Given the description of an element on the screen output the (x, y) to click on. 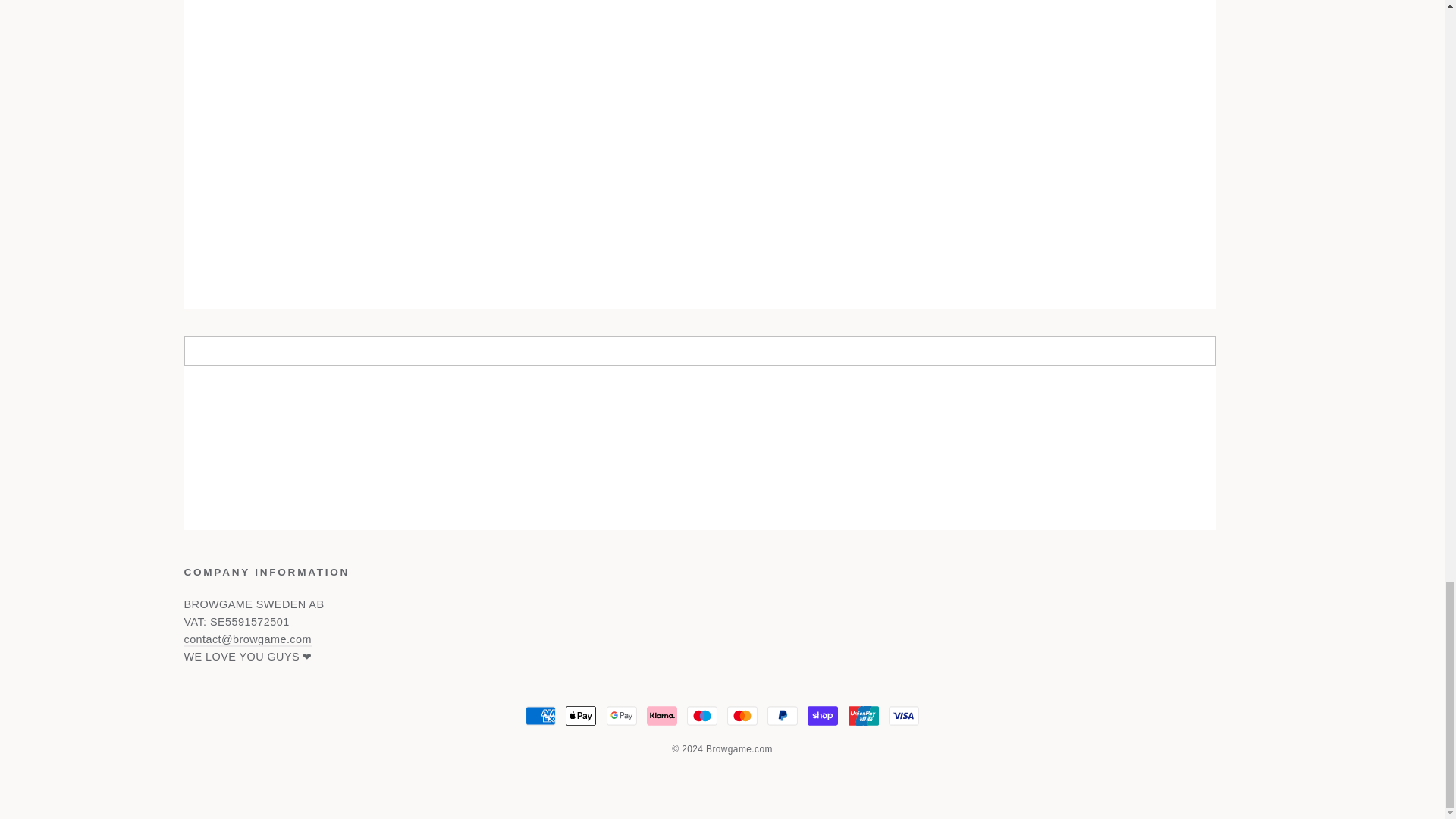
Klarna (661, 716)
Shop Pay (823, 716)
Union Pay (863, 716)
Visa (903, 716)
PayPal (782, 716)
Apple Pay (580, 716)
Maestro (702, 716)
American Express (540, 716)
Google Pay (622, 716)
Mastercard (741, 716)
